Given the description of an element on the screen output the (x, y) to click on. 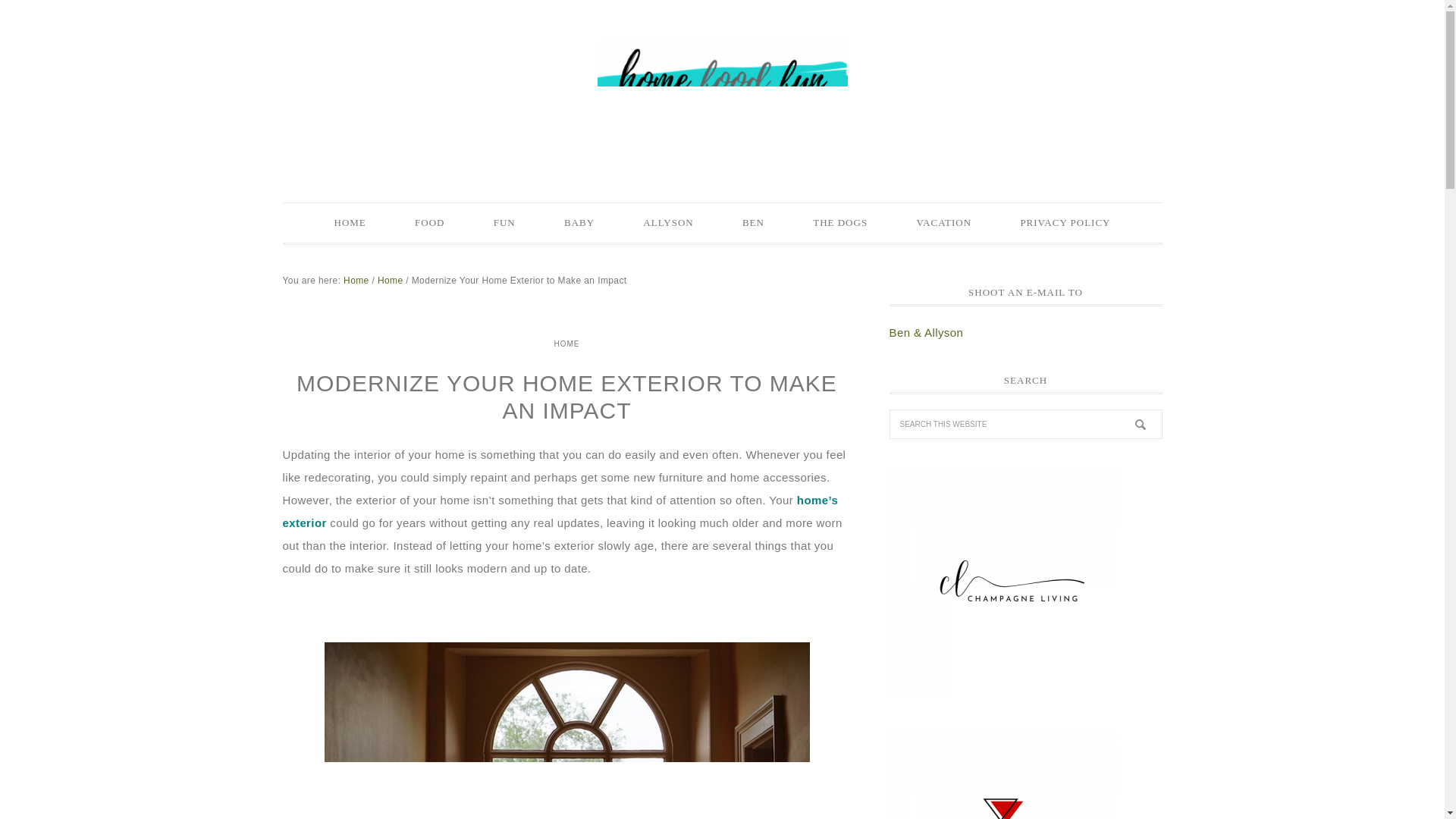
BEN (753, 222)
FOOD (429, 222)
ALLYSON (668, 222)
VACATION (943, 222)
PRIVACY POLICY (1064, 222)
HOME (566, 342)
BABY (579, 222)
